Given the description of an element on the screen output the (x, y) to click on. 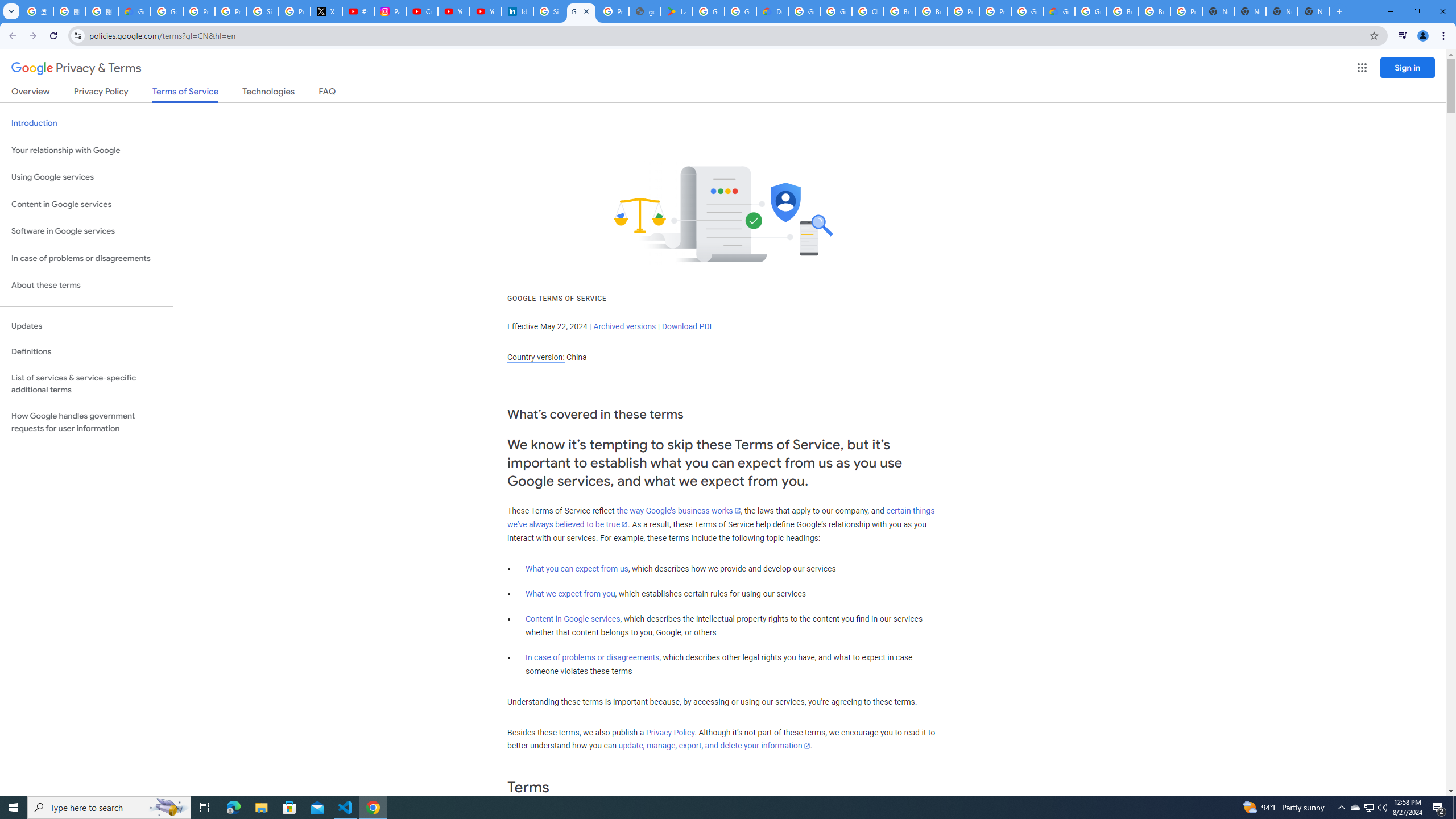
Privacy Help Center - Policies Help (230, 11)
About these terms (86, 284)
Google Cloud Estimate Summary (1059, 11)
#nbabasketballhighlights - YouTube (358, 11)
YouTube Culture & Trends - YouTube Top 10, 2021 (485, 11)
services (583, 480)
Software in Google services (86, 230)
Google Cloud Platform (1091, 11)
